Given the description of an element on the screen output the (x, y) to click on. 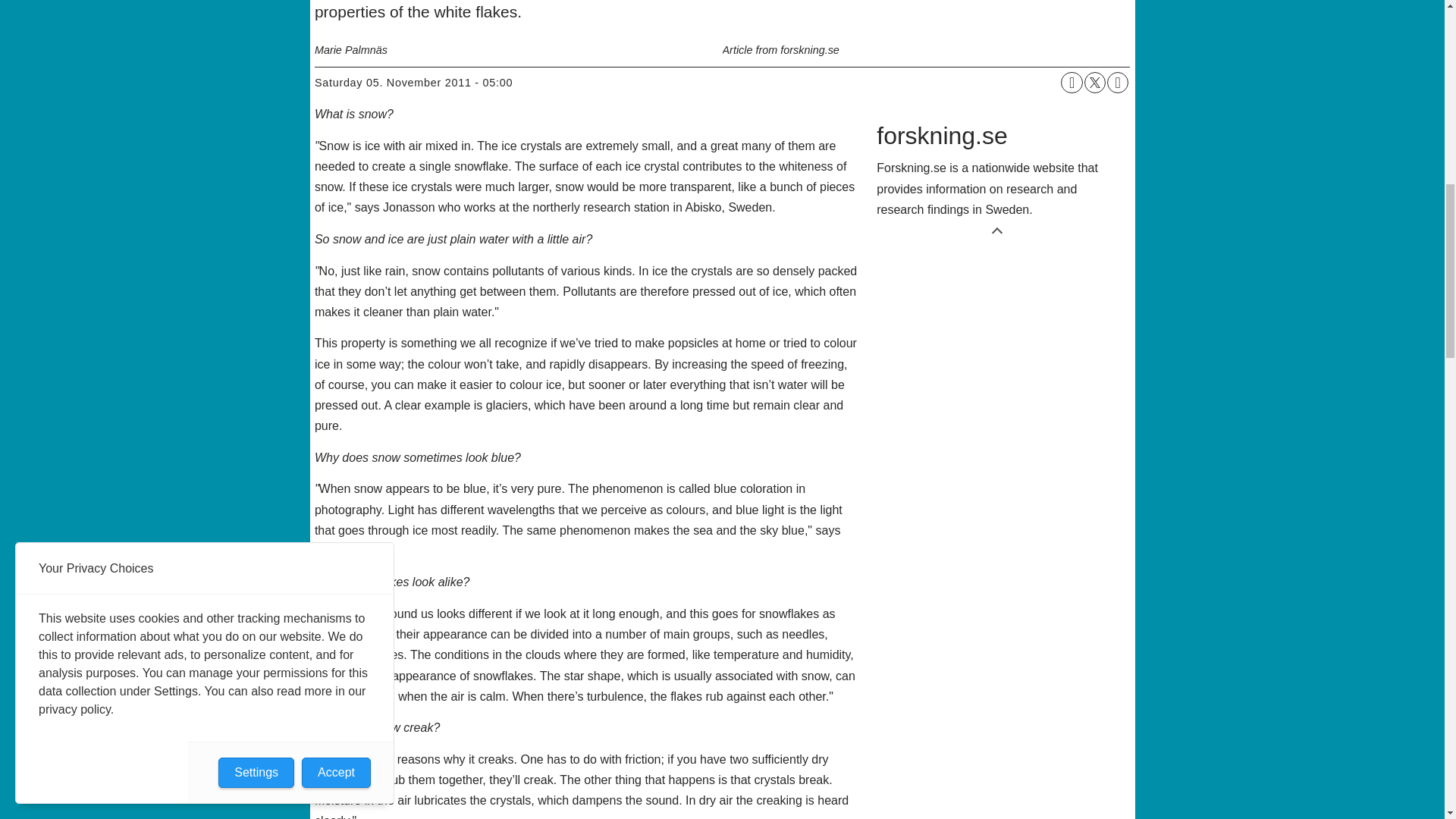
 saturday 05. November 2011 - 05:00 (413, 83)
